Given the description of an element on the screen output the (x, y) to click on. 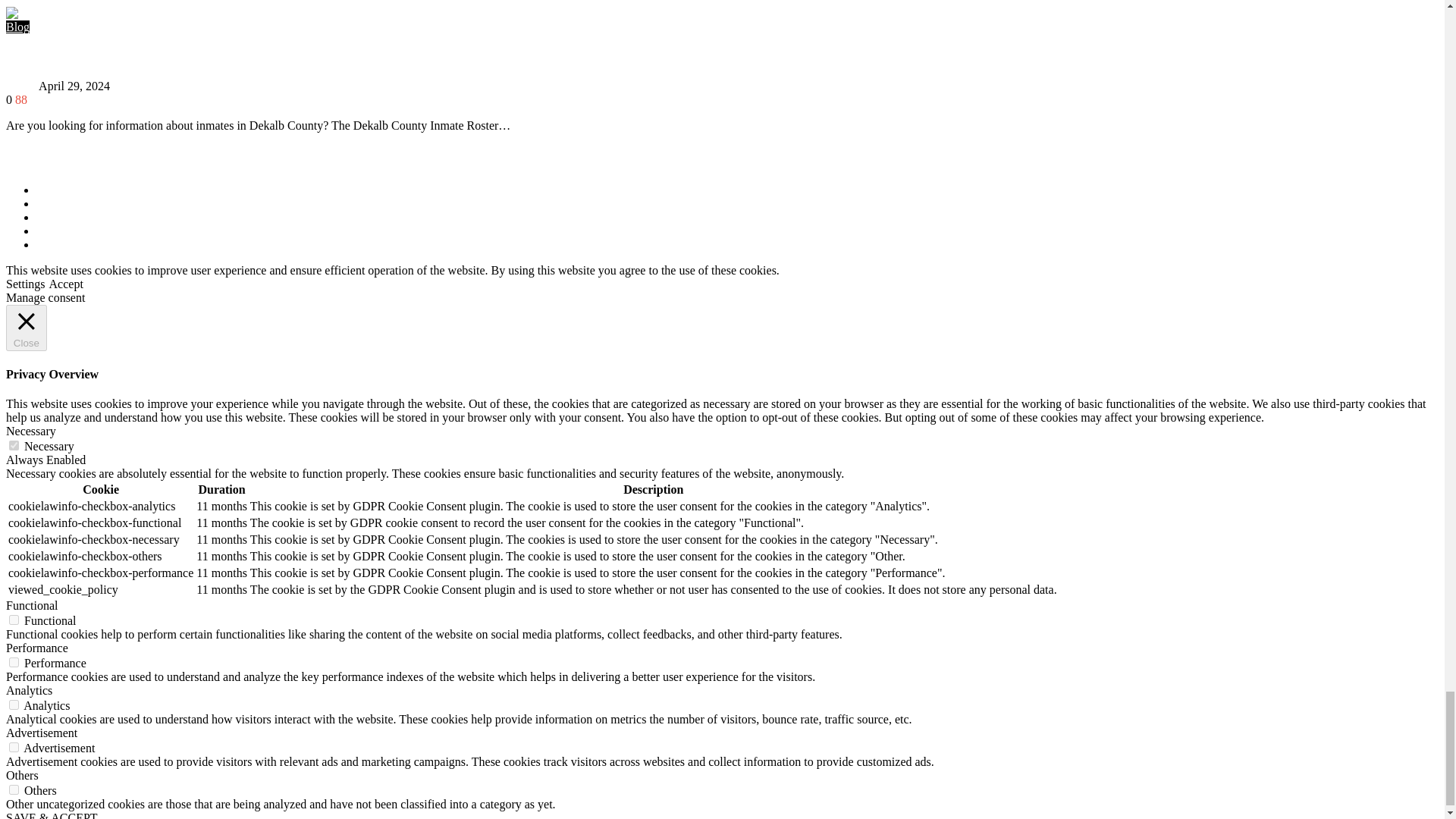
on (13, 662)
on (13, 445)
on (13, 705)
on (13, 747)
on (13, 619)
on (13, 789)
